Given the description of an element on the screen output the (x, y) to click on. 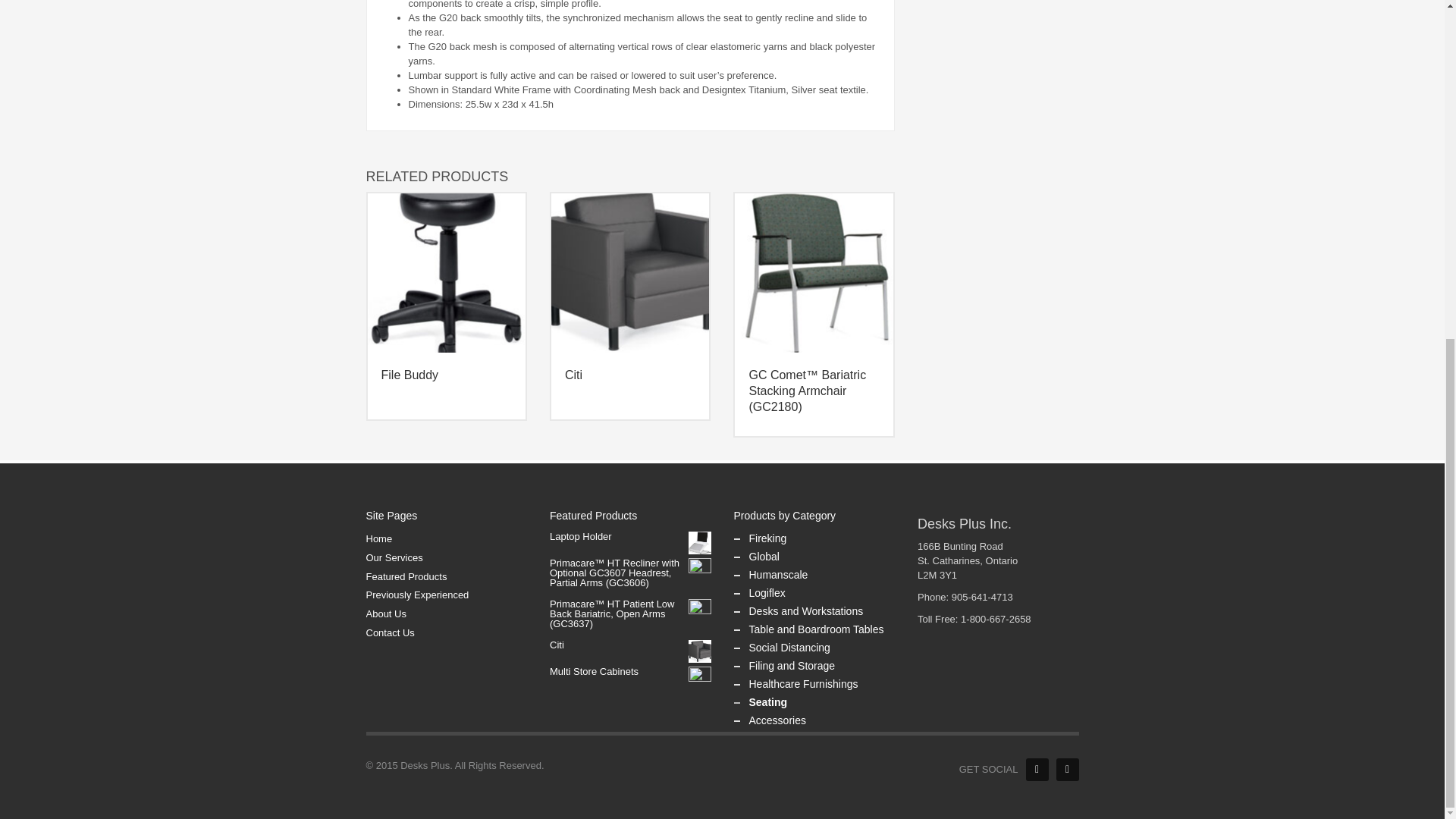
Facebook (1036, 769)
primacare ht recliner (699, 568)
Home (446, 539)
Our Services (446, 558)
Citi (630, 271)
Laptop Holder (699, 542)
Twitter (1066, 769)
Citi (699, 650)
File Buddy (446, 271)
